Given the description of an element on the screen output the (x, y) to click on. 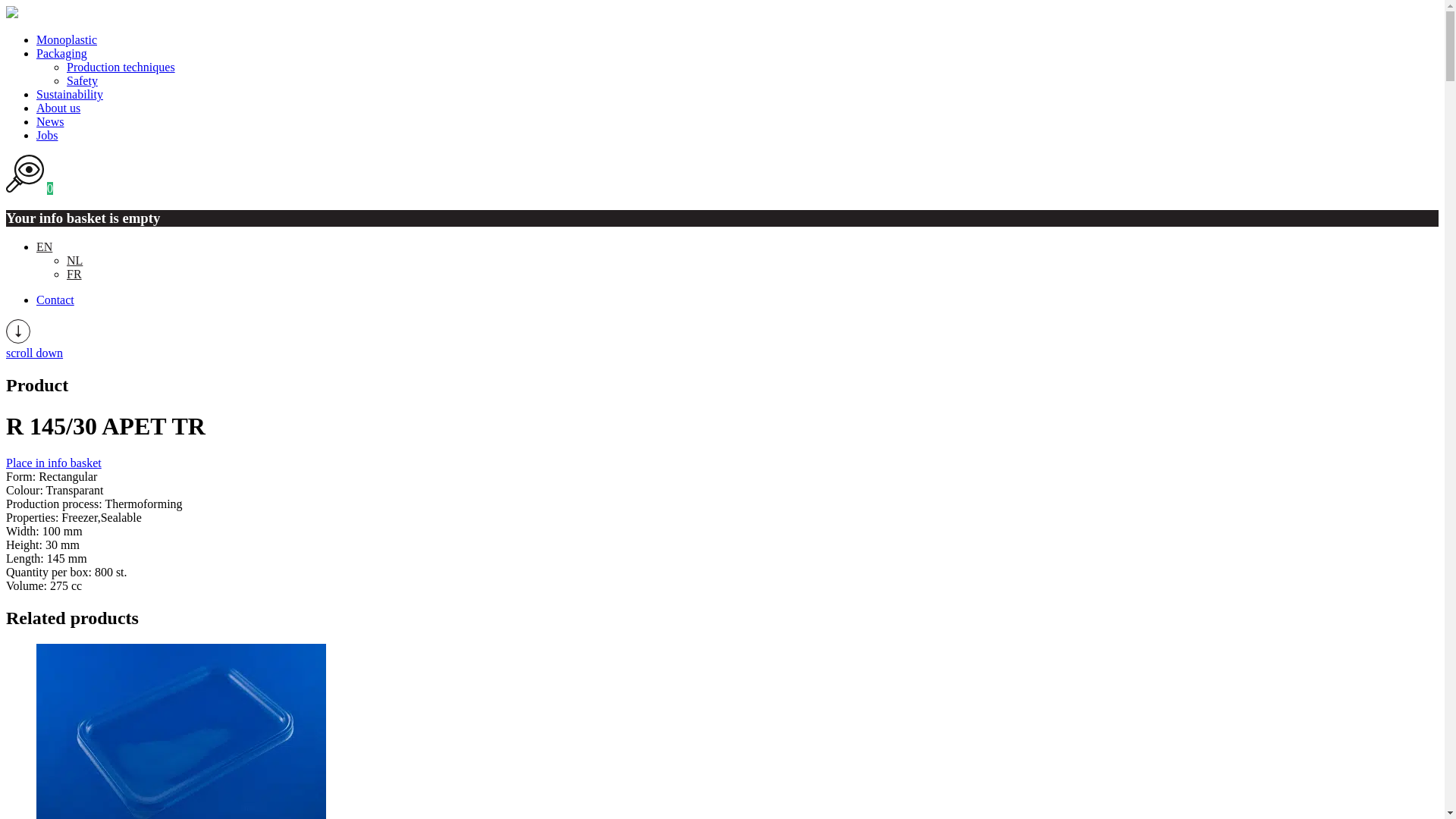
scroll down Element type: text (34, 352)
Packaging Element type: text (61, 53)
Production techniques Element type: text (120, 66)
Safety Element type: text (81, 80)
Monoplastic Element type: text (66, 39)
Place in info basket Element type: text (53, 462)
News Element type: text (49, 121)
Jobs Element type: text (46, 134)
Contact Element type: text (55, 299)
FR Element type: text (73, 273)
NL Element type: text (74, 260)
EN Element type: text (44, 246)
Sustainability Element type: text (69, 93)
0 Element type: text (29, 188)
About us Element type: text (58, 107)
